Given the description of an element on the screen output the (x, y) to click on. 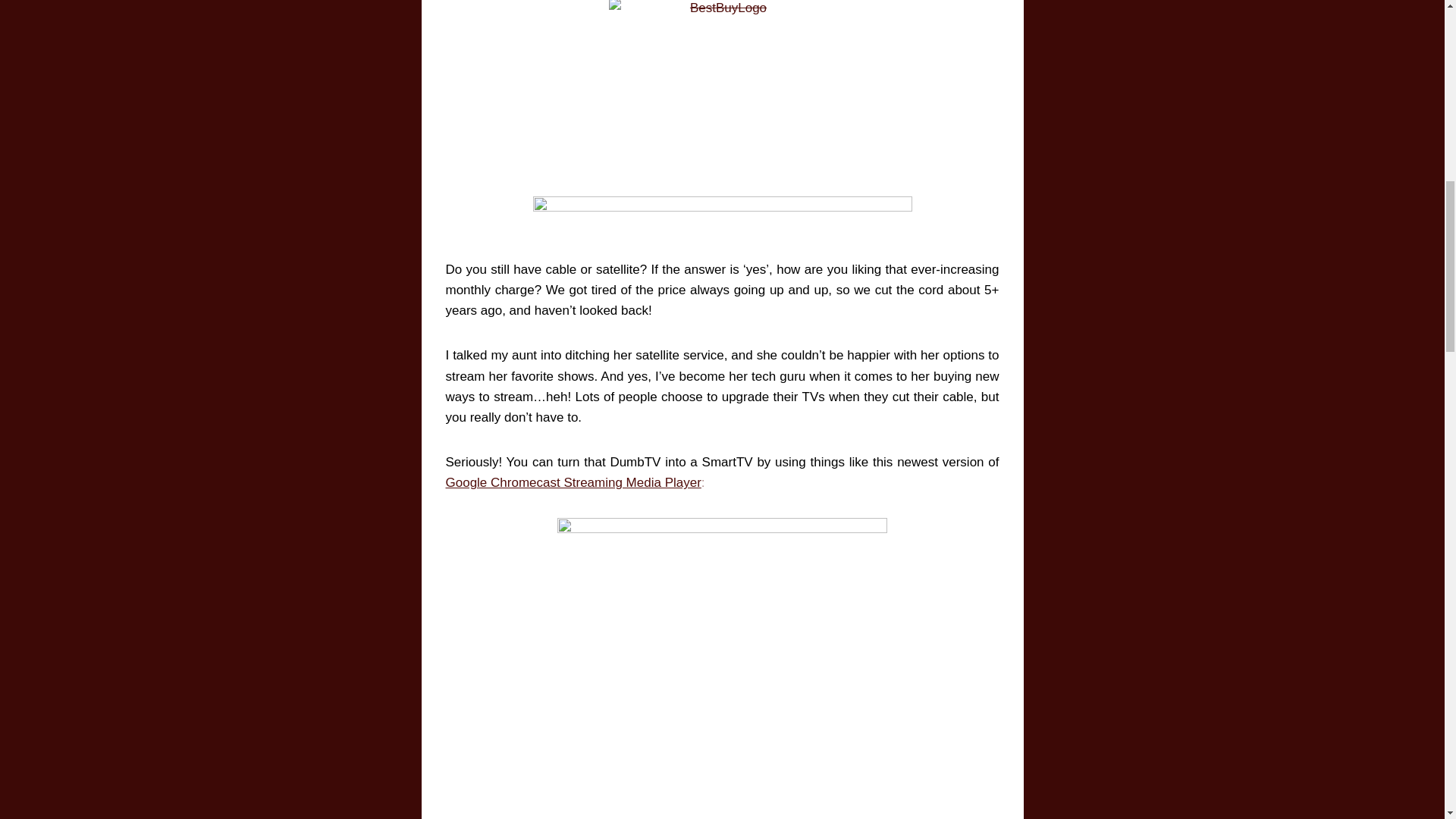
Google Chromecast Streaming Media Player (573, 482)
